Given the description of an element on the screen output the (x, y) to click on. 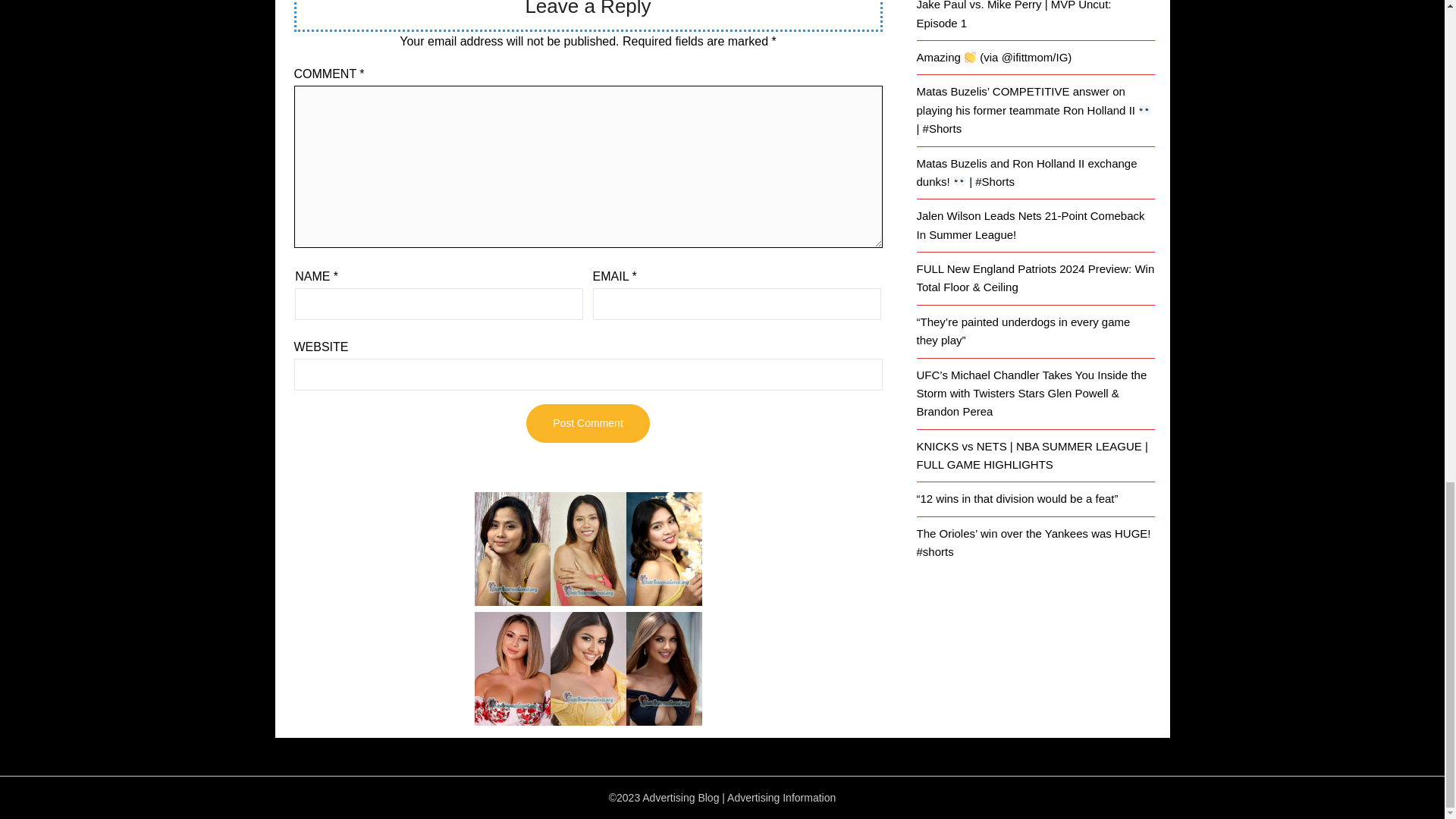
Post Comment (587, 423)
Post Comment (587, 423)
Jalen Wilson Leads Nets 21-Point Comeback In Summer League! (1029, 224)
